Given the description of an element on the screen output the (x, y) to click on. 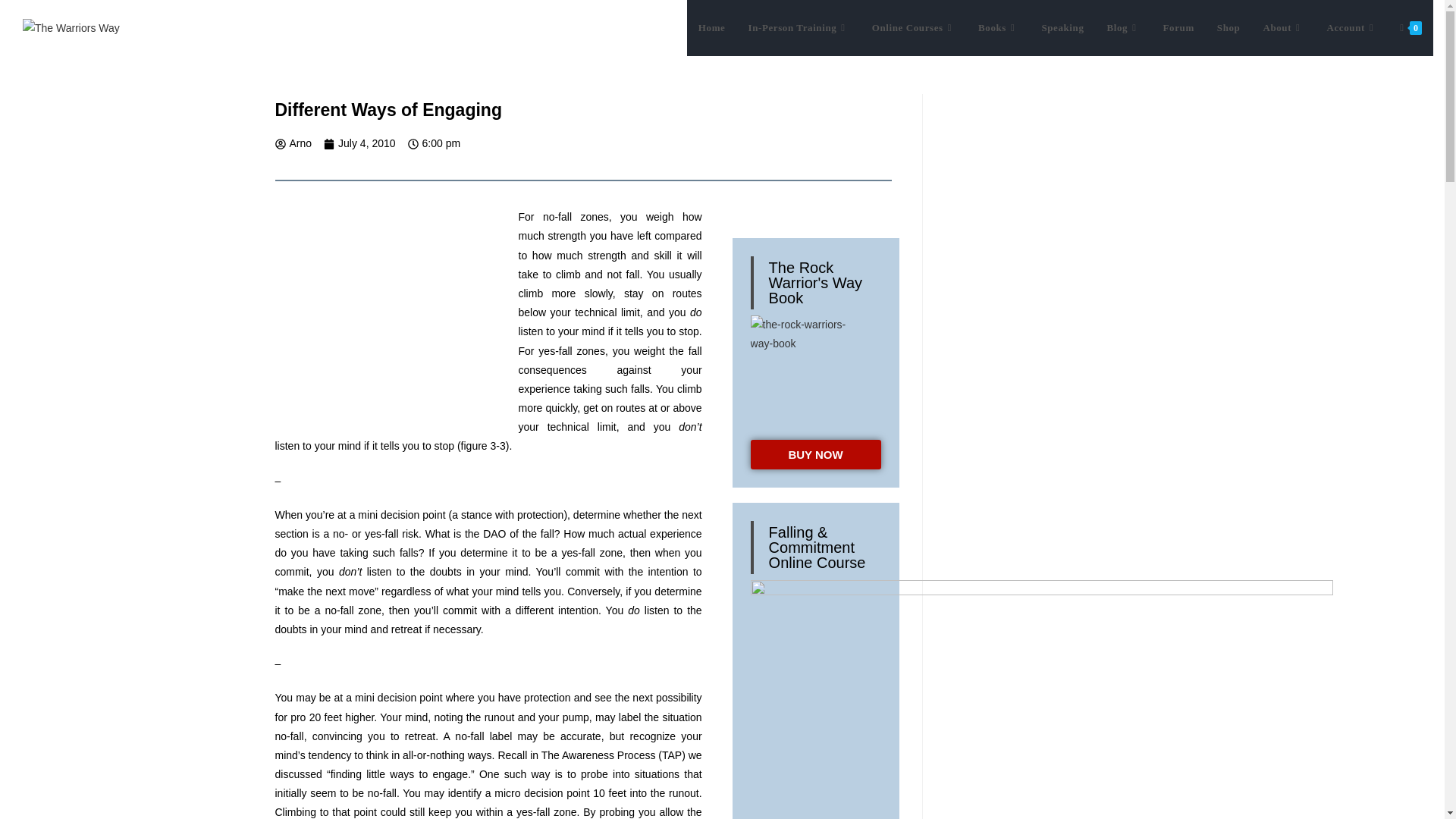
Account (1351, 28)
Forum (1178, 28)
Books (997, 28)
Home (711, 28)
figure 3-3 (388, 321)
Speaking (1061, 28)
Blog (1122, 28)
In-Person Training (798, 28)
About (1282, 28)
Online Courses (913, 28)
